Given the description of an element on the screen output the (x, y) to click on. 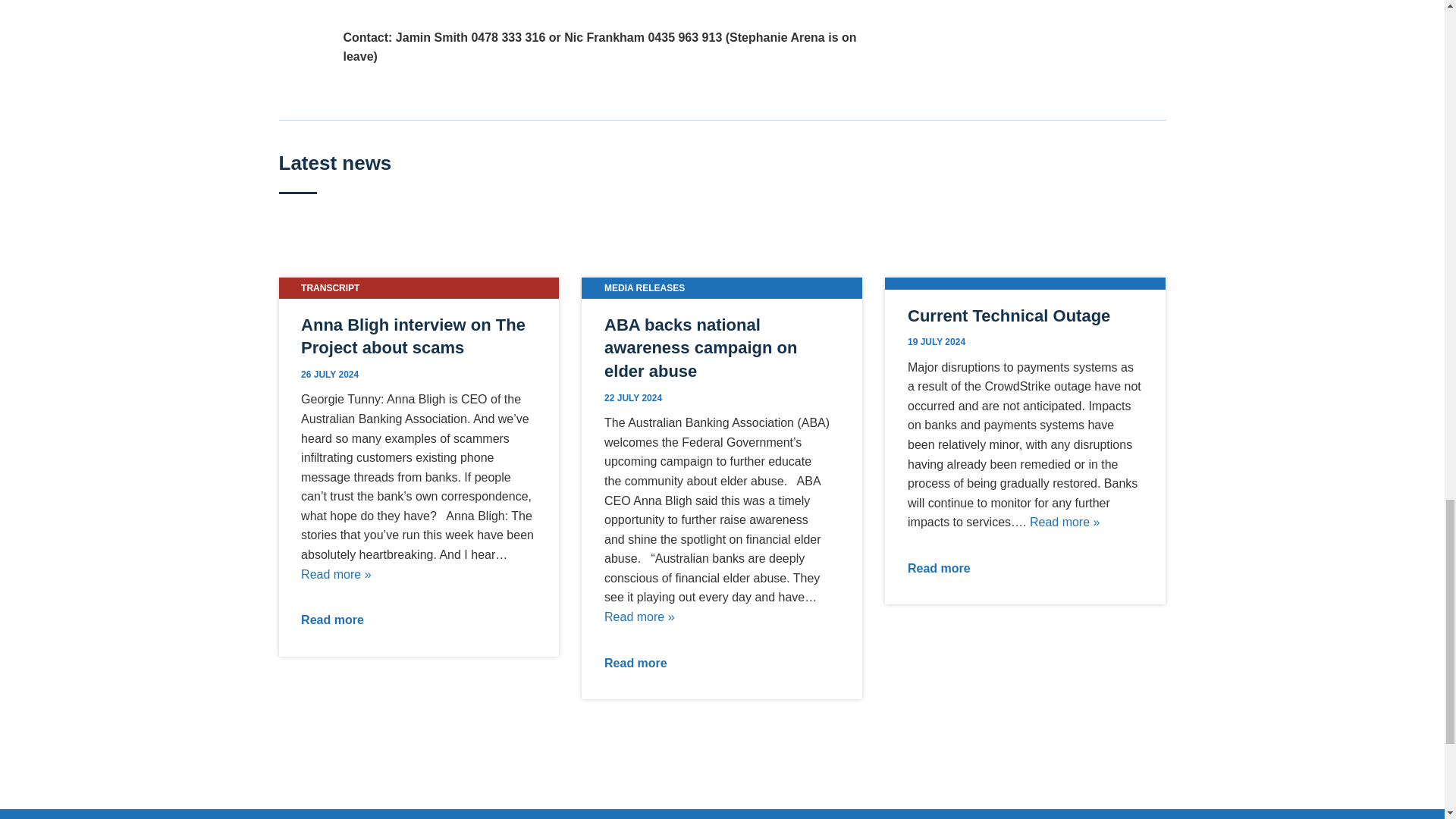
Read ABA backs national awareness campaign on elder abuse (639, 616)
Read Anna Bligh interview on The Project about scams (336, 574)
Read Current Technical Outage (1064, 521)
